Given the description of an element on the screen output the (x, y) to click on. 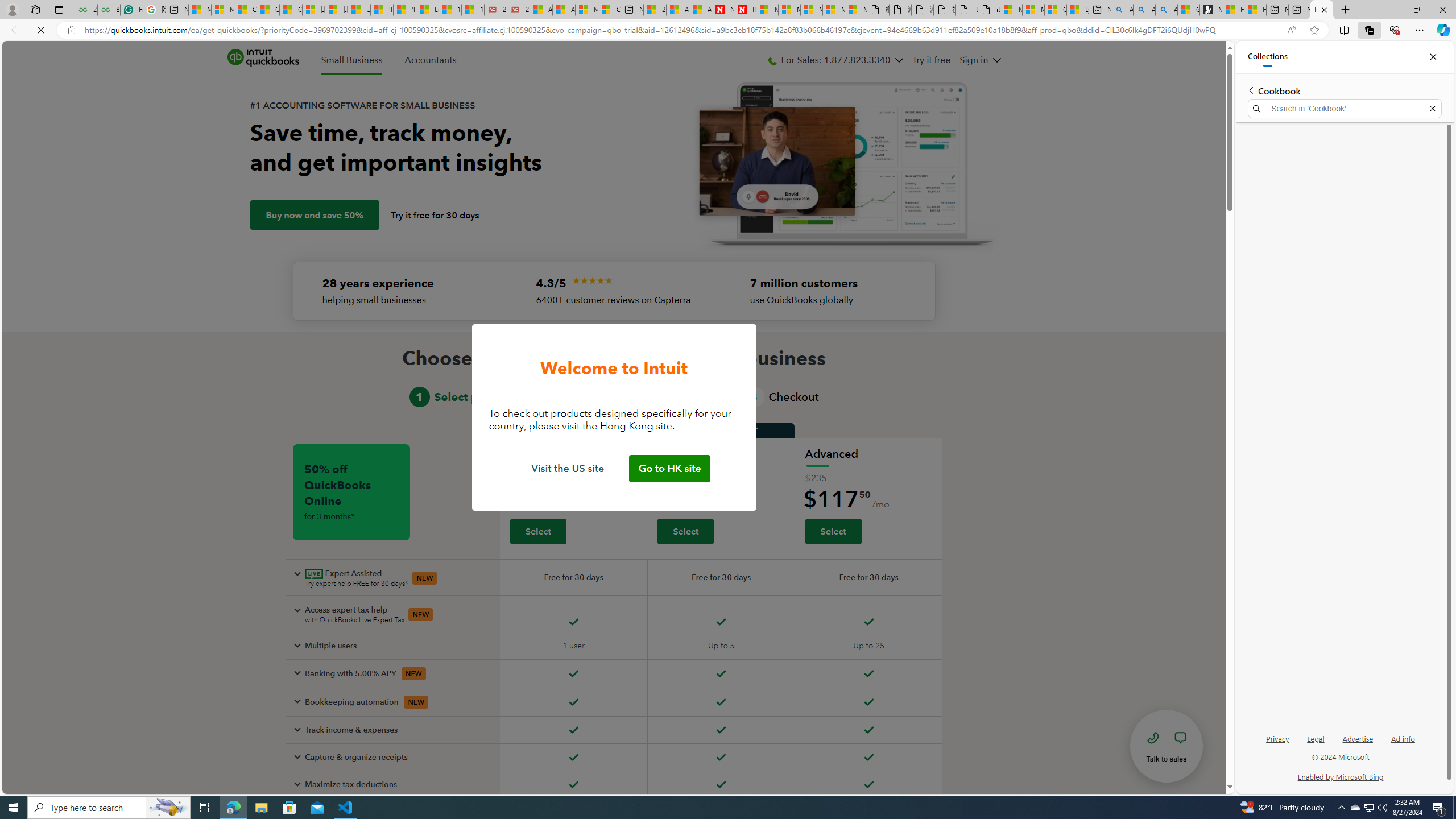
Illness news & latest pictures from Newsweek.com (745, 9)
Try it free (930, 60)
Exit search (1432, 108)
Buy now and save 50% (314, 214)
For Sales: 1.877.823.3340 (834, 60)
Best SSL Certificates Provider in India - GeeksforGeeks (109, 9)
How to Use a TV as a Computer Monitor (1255, 9)
20 Ways to Boost Your Protein Intake at Every Meal (655, 9)
